Given the description of an element on the screen output the (x, y) to click on. 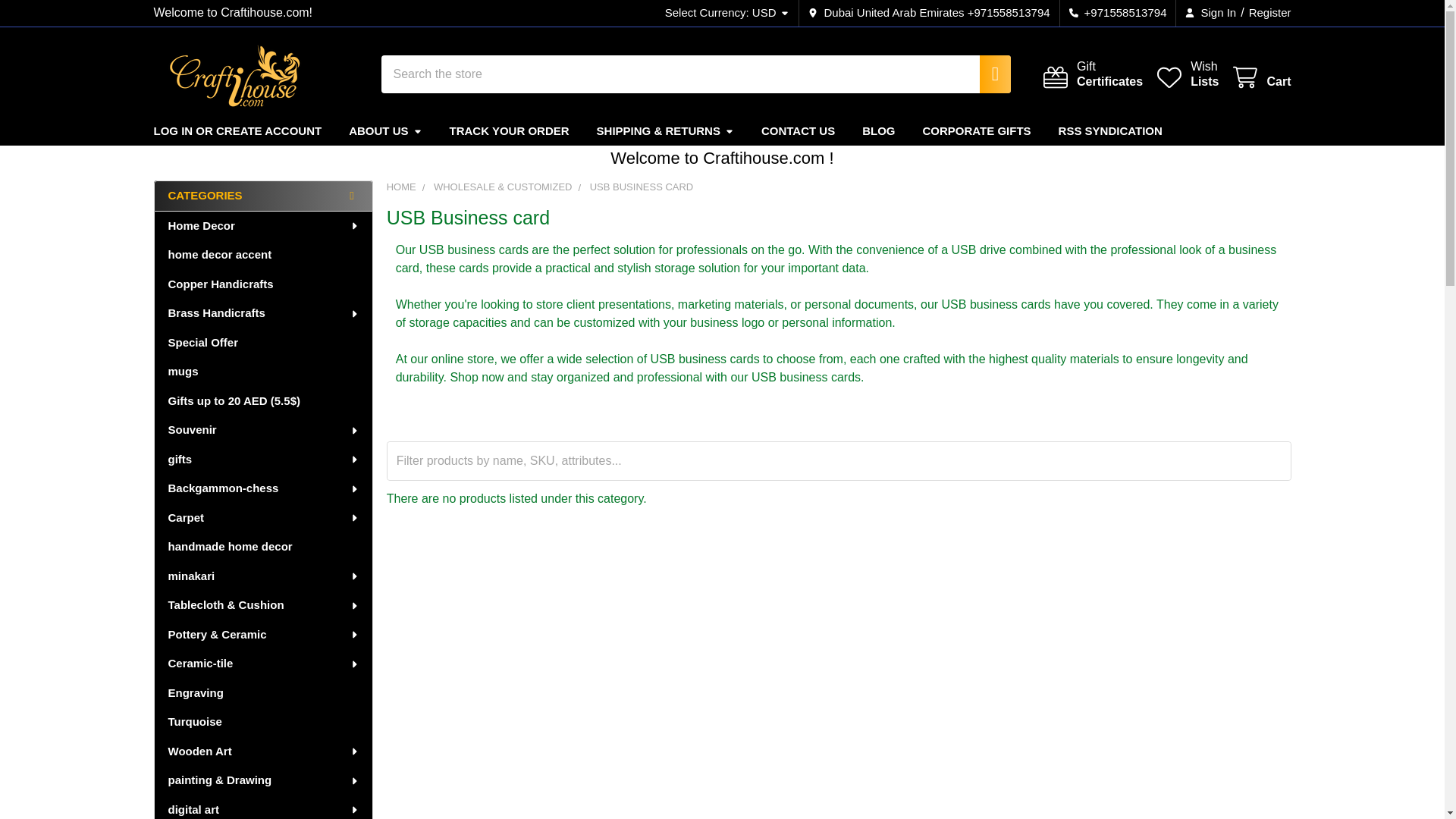
Gift Certificates (1091, 73)
Craftihouse.com (234, 74)
Register (1265, 13)
Wish Lists (1186, 73)
Search (986, 74)
Search (986, 74)
Cart (1186, 73)
Sign In (1260, 77)
